Given the description of an element on the screen output the (x, y) to click on. 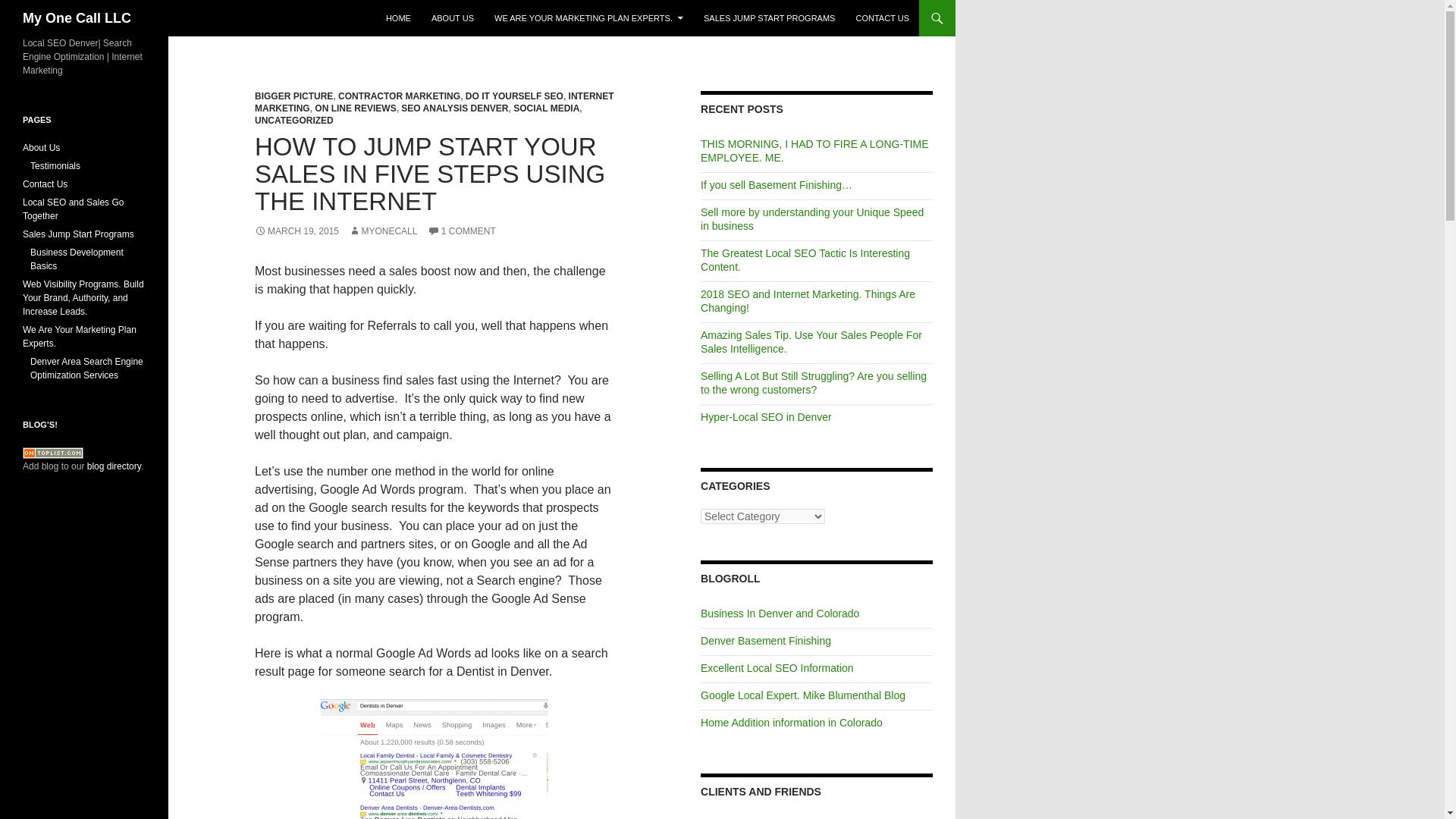
MYONECALL (382, 231)
INTERNET MARKETING (434, 101)
CONTRACTOR MARKETING (398, 95)
Cost and process of building a Home  (791, 722)
ON LINE REVIEWS (355, 108)
MARCH 19, 2015 (296, 231)
Business information in Colorado (779, 613)
1 COMMENT (462, 231)
CONTACT US (881, 18)
SALES JUMP START PROGRAMS (769, 18)
